Given the description of an element on the screen output the (x, y) to click on. 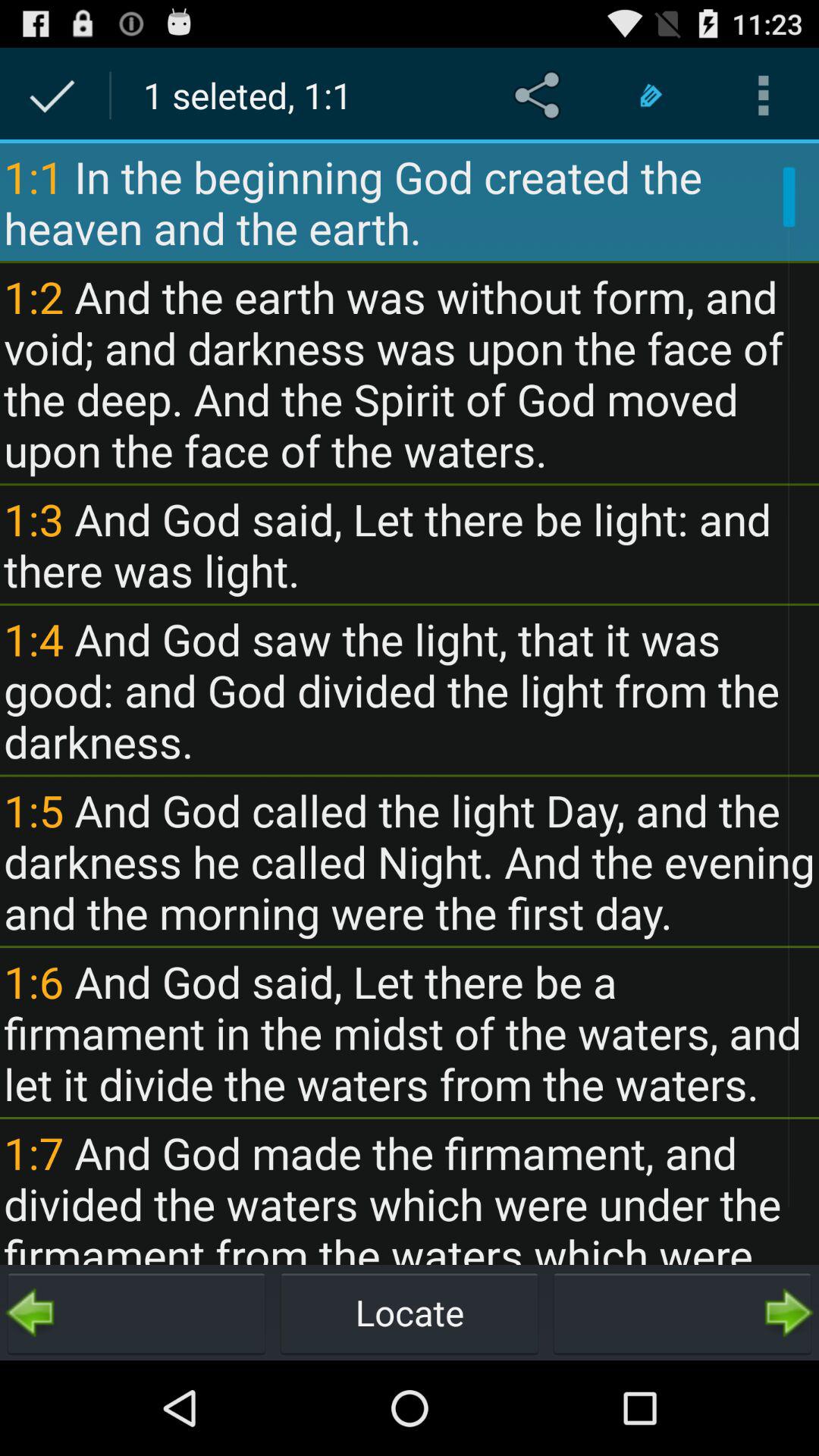
flip until the locate (409, 1312)
